Given the description of an element on the screen output the (x, y) to click on. 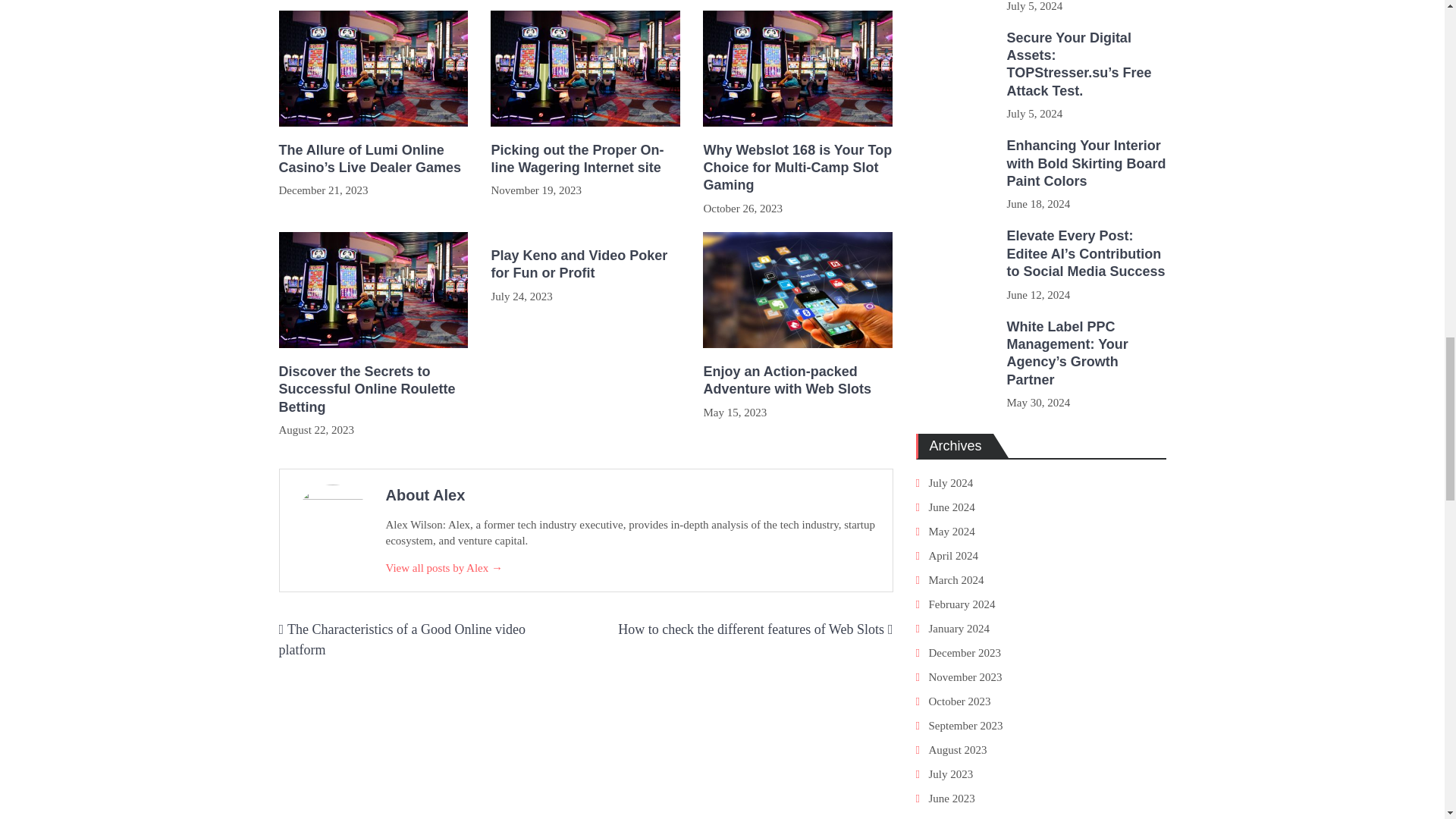
How to check the different features of Web Slots (750, 629)
Enjoy an Action-packed Adventure with Web Slots (797, 380)
Picking out the Proper On-line Wagering Internet site (584, 159)
Discover the Secrets to Successful Online Roulette Betting (373, 389)
The Characteristics of a Good Online video platform (402, 639)
Play Keno and Video Poker for Fun or Profit (584, 264)
